Given the description of an element on the screen output the (x, y) to click on. 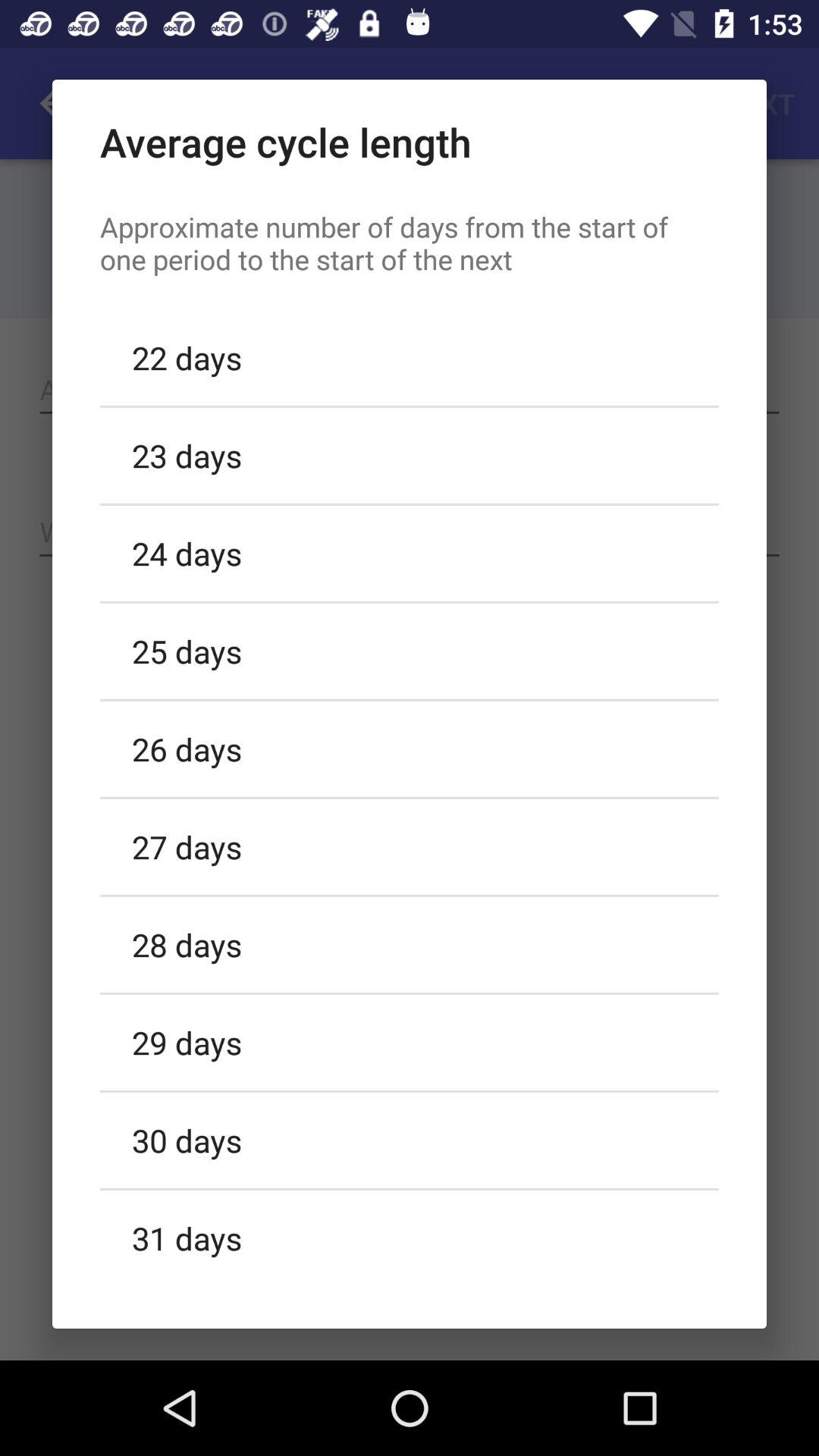
click the icon above 31 days icon (409, 1140)
